Given the description of an element on the screen output the (x, y) to click on. 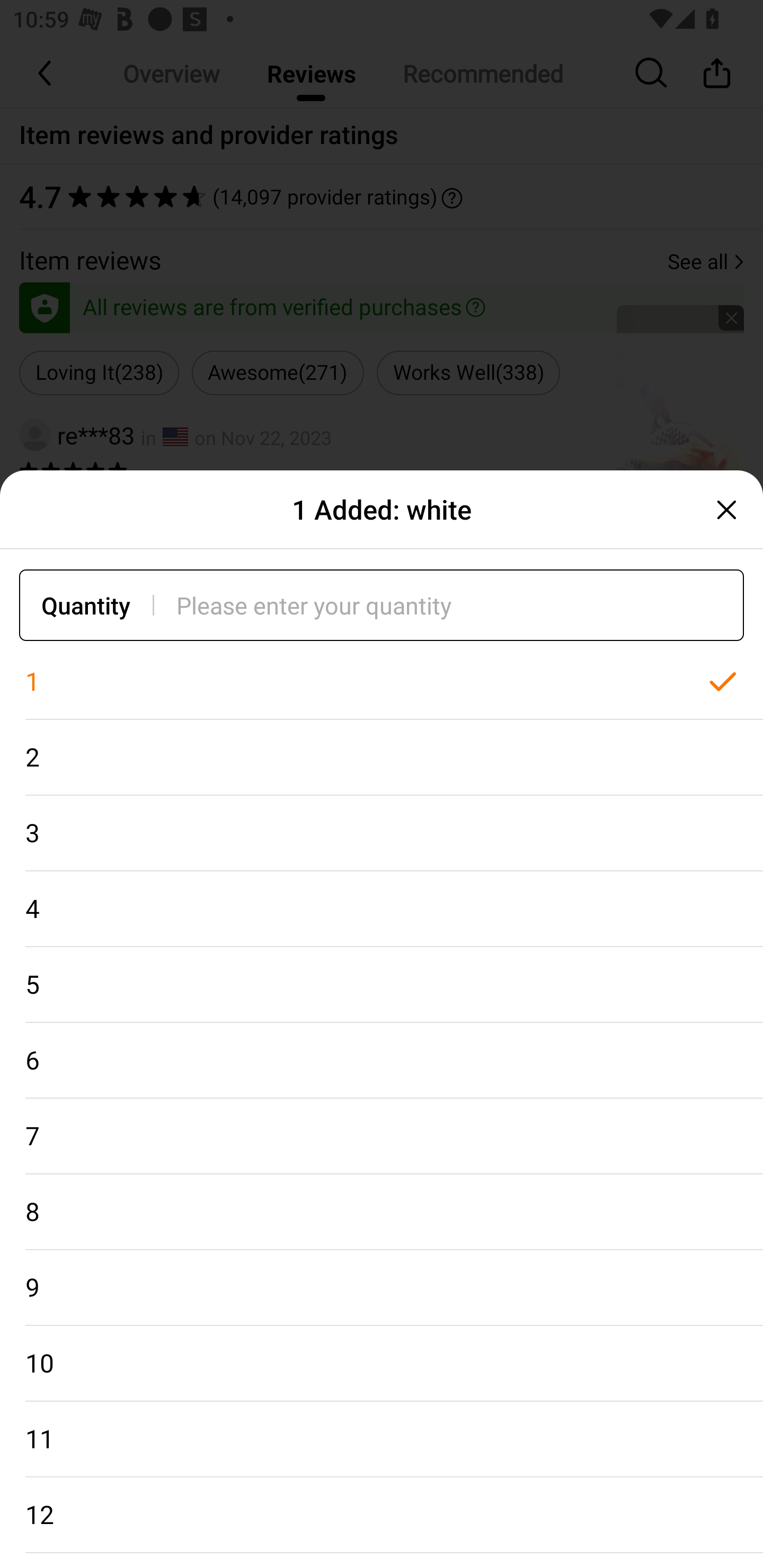
Please enter your quantity (459, 605)
1 (381, 681)
2 (381, 756)
3 (381, 832)
4 (381, 909)
5 (381, 984)
6 (381, 1060)
7 (381, 1136)
8 (381, 1211)
9 (381, 1287)
10 (381, 1363)
11 (381, 1439)
12 (381, 1515)
